Given the description of an element on the screen output the (x, y) to click on. 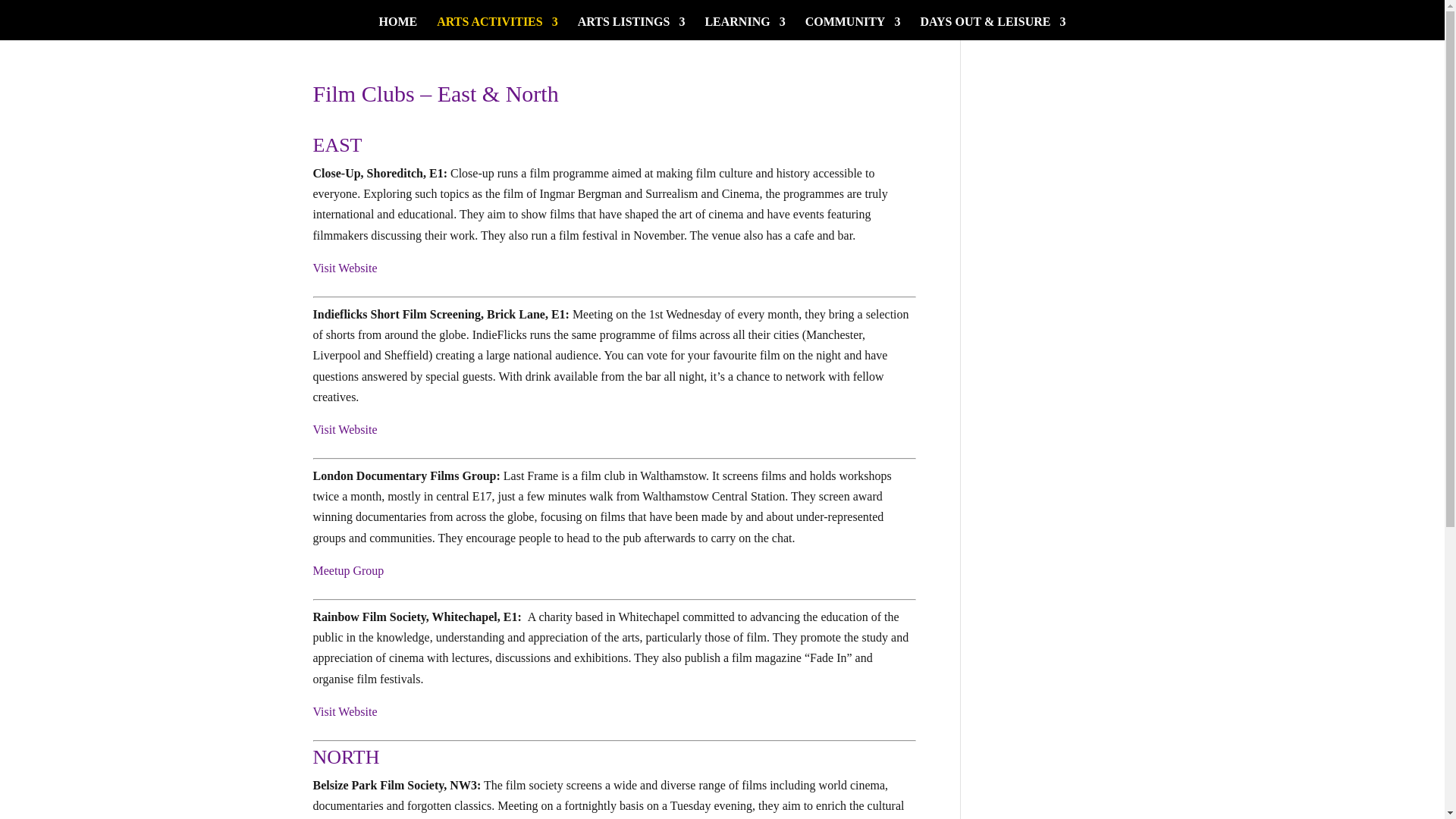
HOME (397, 28)
ARTS ACTIVITIES (496, 28)
ARTS LISTINGS (631, 28)
